Given the description of an element on the screen output the (x, y) to click on. 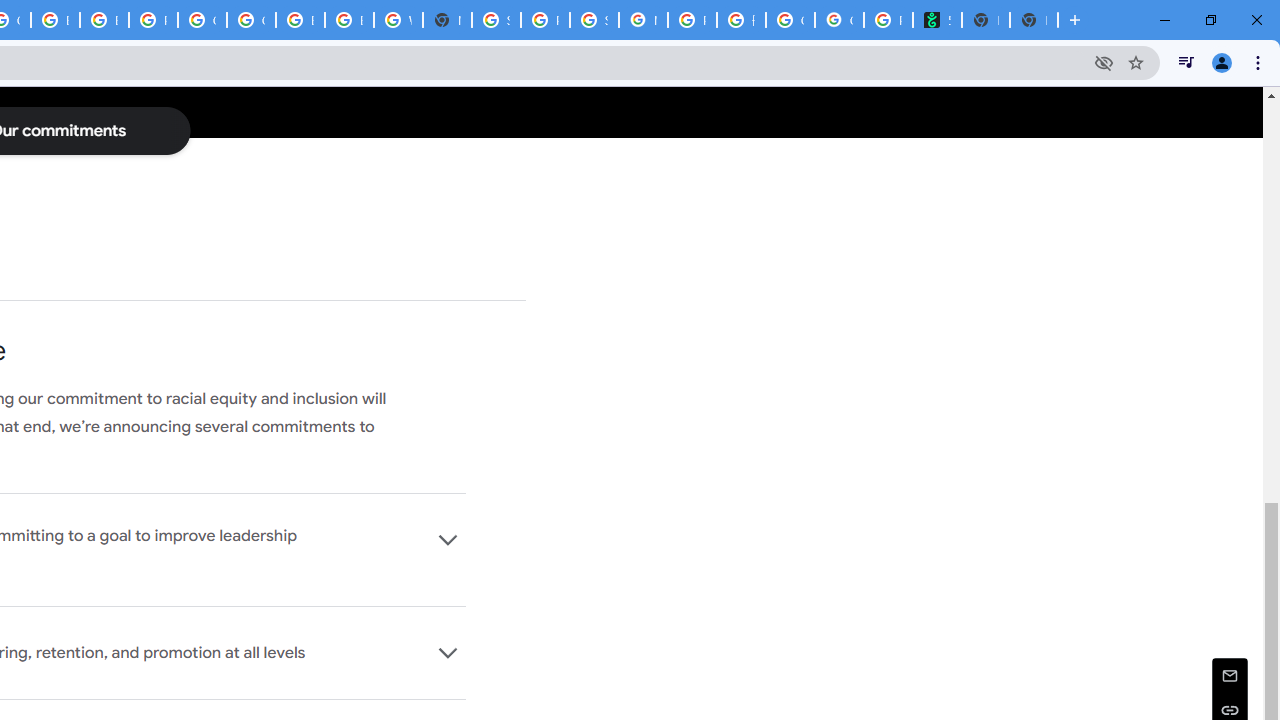
Google Cloud Platform (251, 20)
Sign in - Google Accounts (496, 20)
New Tab (447, 20)
